Given the description of an element on the screen output the (x, y) to click on. 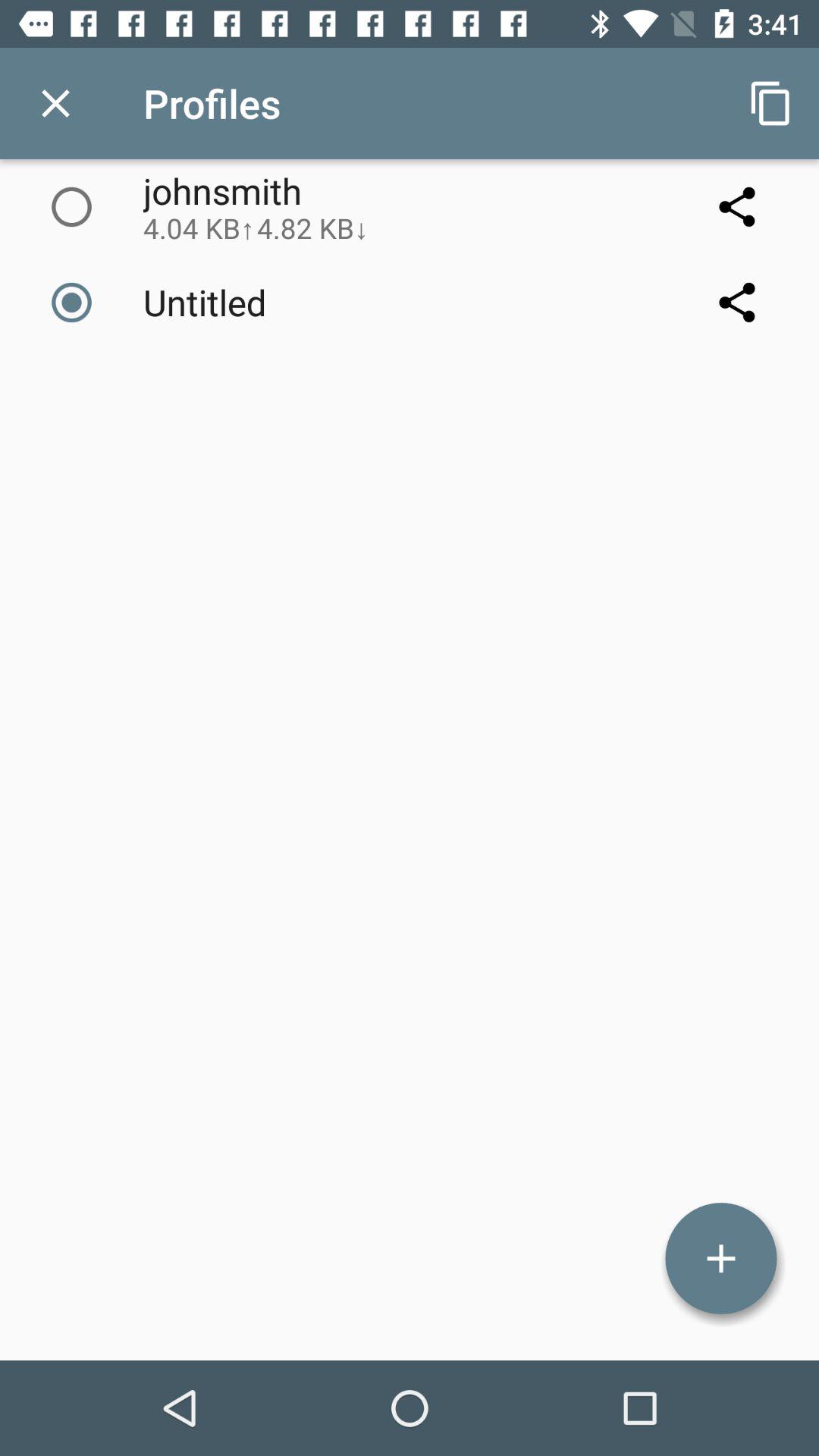
add more (721, 1258)
